Given the description of an element on the screen output the (x, y) to click on. 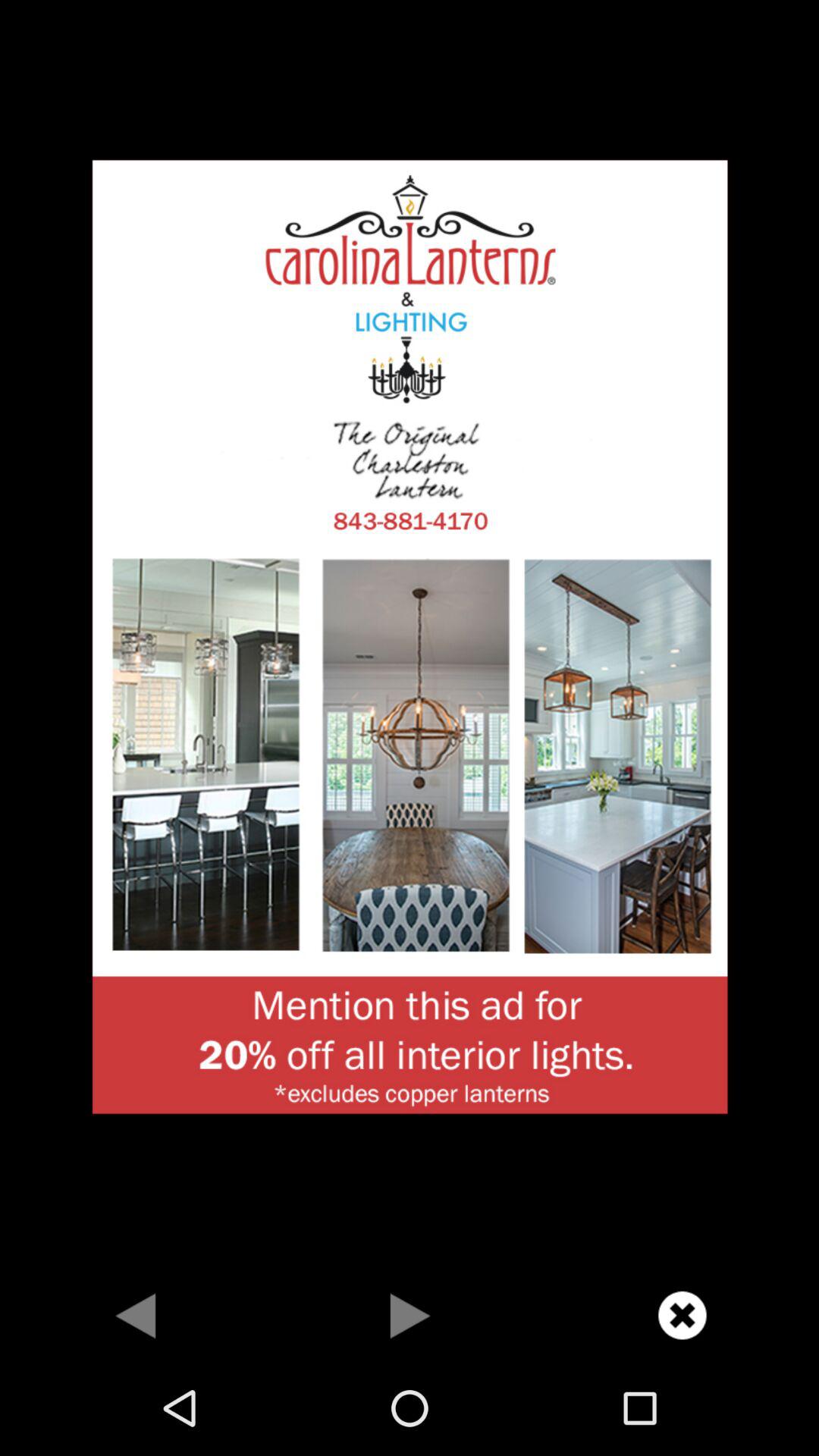
new house environment (409, 635)
